Given the description of an element on the screen output the (x, y) to click on. 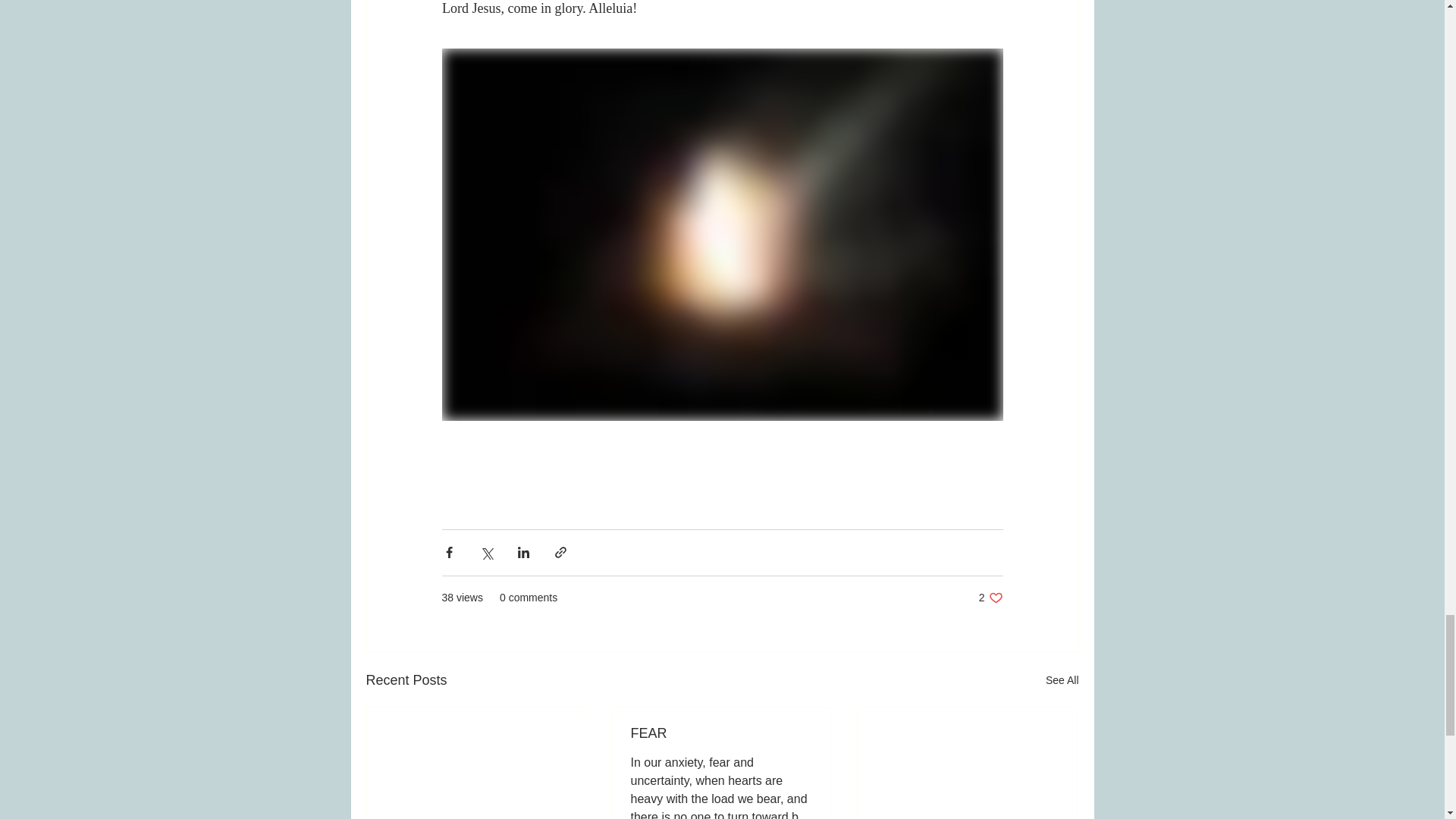
See All (990, 597)
FEAR (1061, 680)
